Given the description of an element on the screen output the (x, y) to click on. 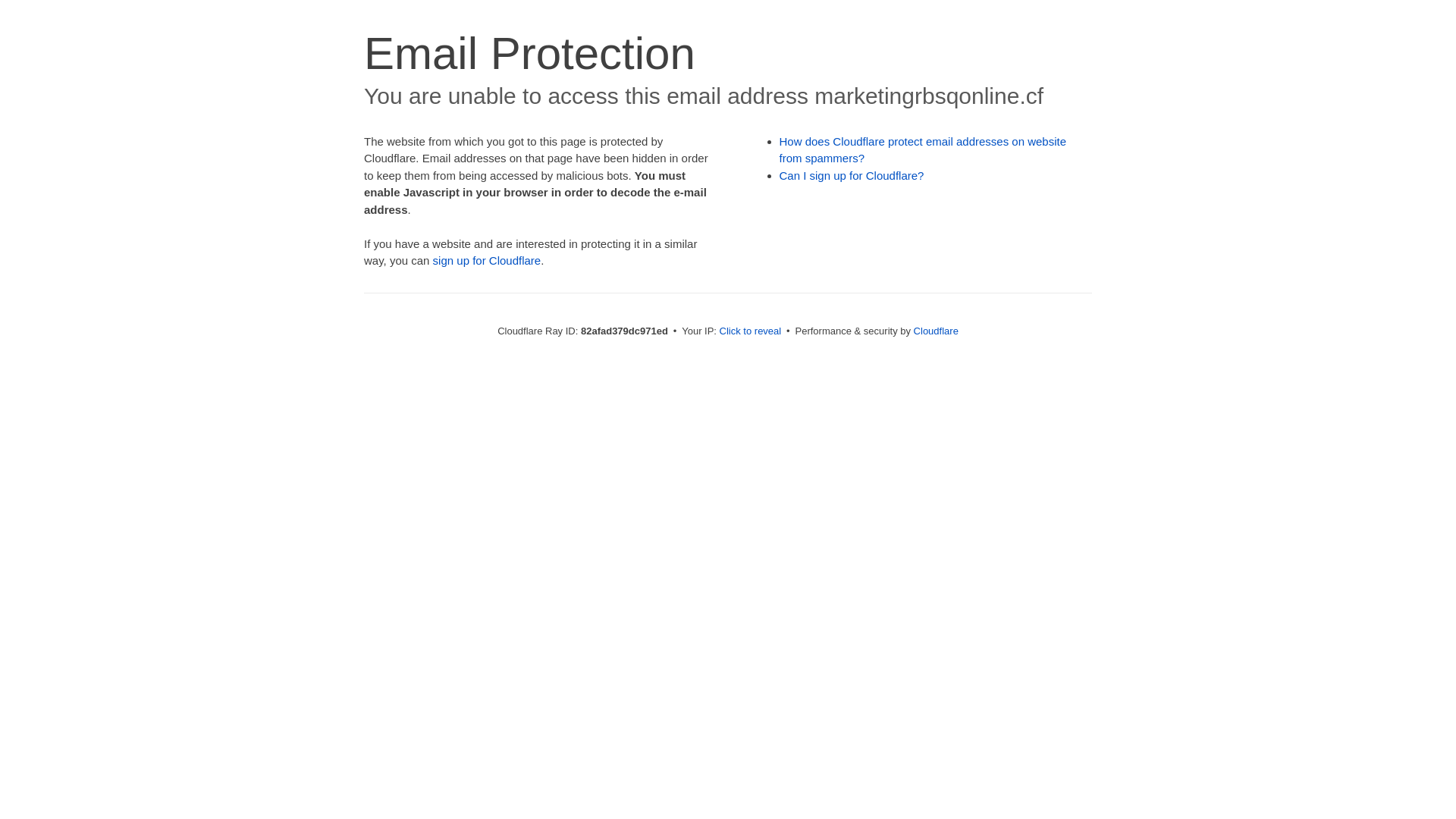
sign up for Cloudflare Element type: text (487, 260)
Click to reveal Element type: text (750, 330)
Can I sign up for Cloudflare? Element type: text (851, 175)
Cloudflare Element type: text (935, 330)
